Given the description of an element on the screen output the (x, y) to click on. 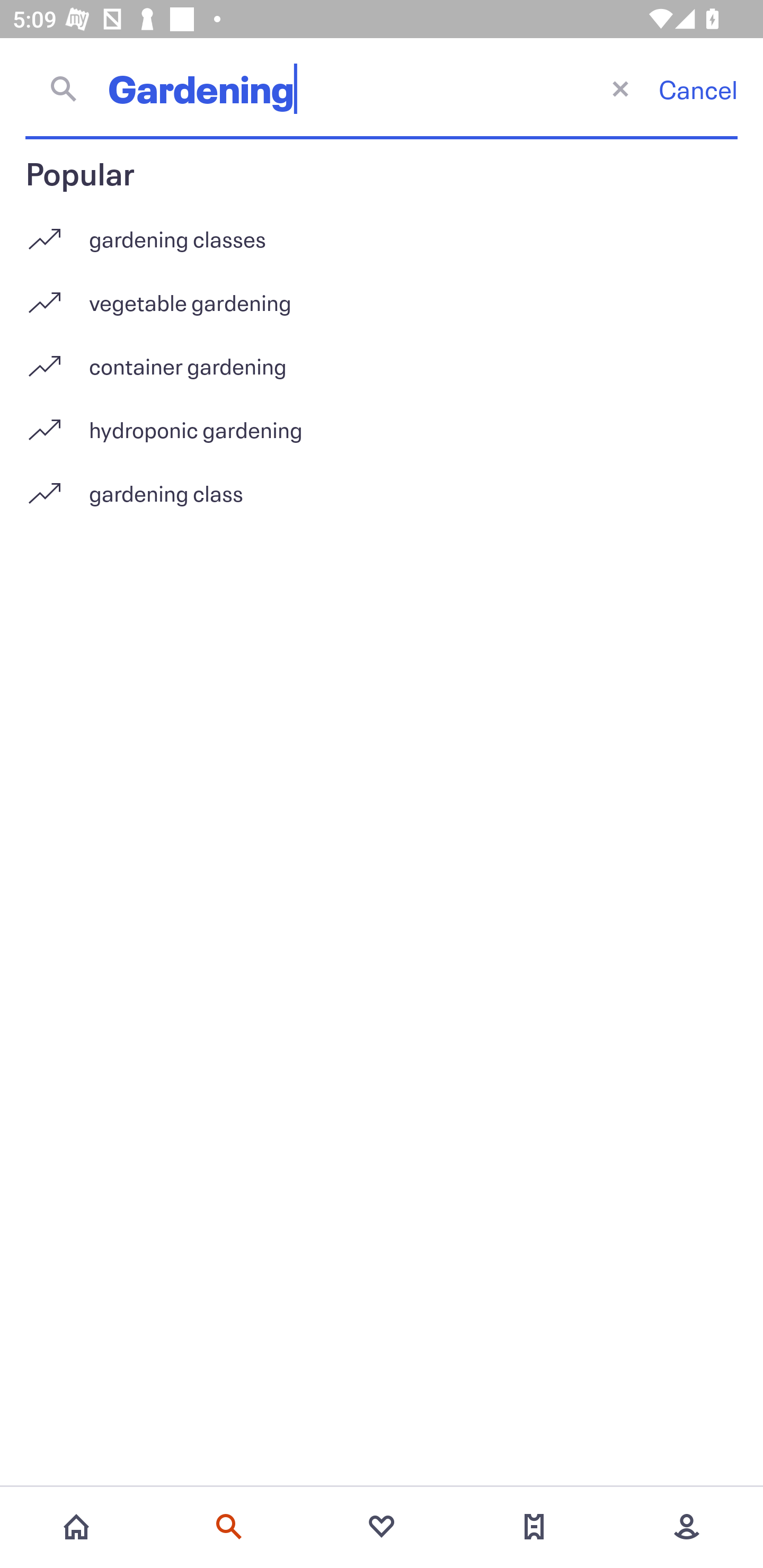
Gardening Close current screen Cancel (381, 88)
Close current screen (620, 88)
Cancel (697, 89)
gardening classes (381, 231)
vegetable gardening (381, 295)
container gardening (381, 358)
hydroponic gardening (381, 422)
gardening class (381, 492)
Home (76, 1526)
Search events (228, 1526)
Favorites (381, 1526)
Tickets (533, 1526)
More (686, 1526)
